Given the description of an element on the screen output the (x, y) to click on. 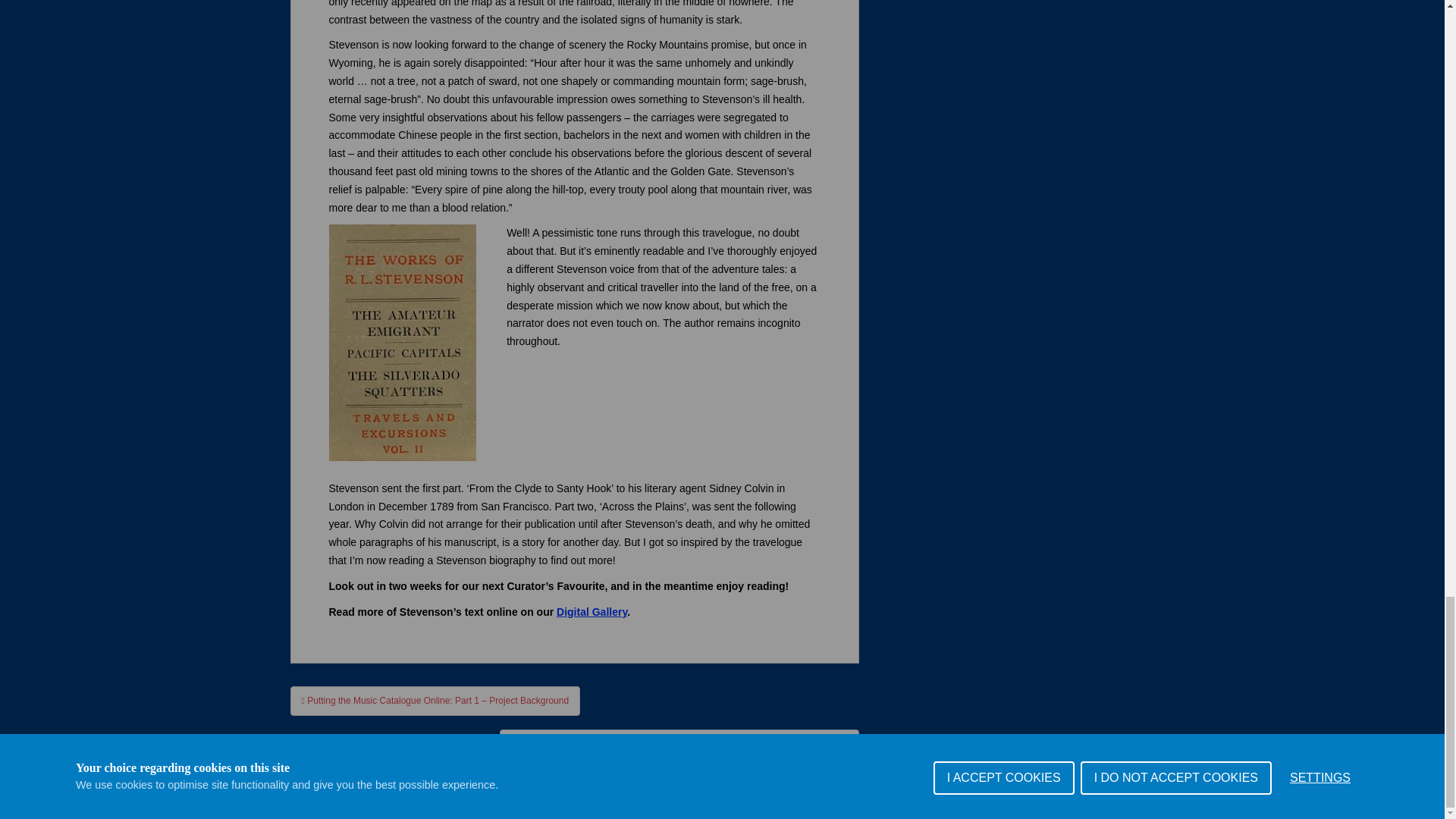
Digital Gallery (591, 612)
